Given the description of an element on the screen output the (x, y) to click on. 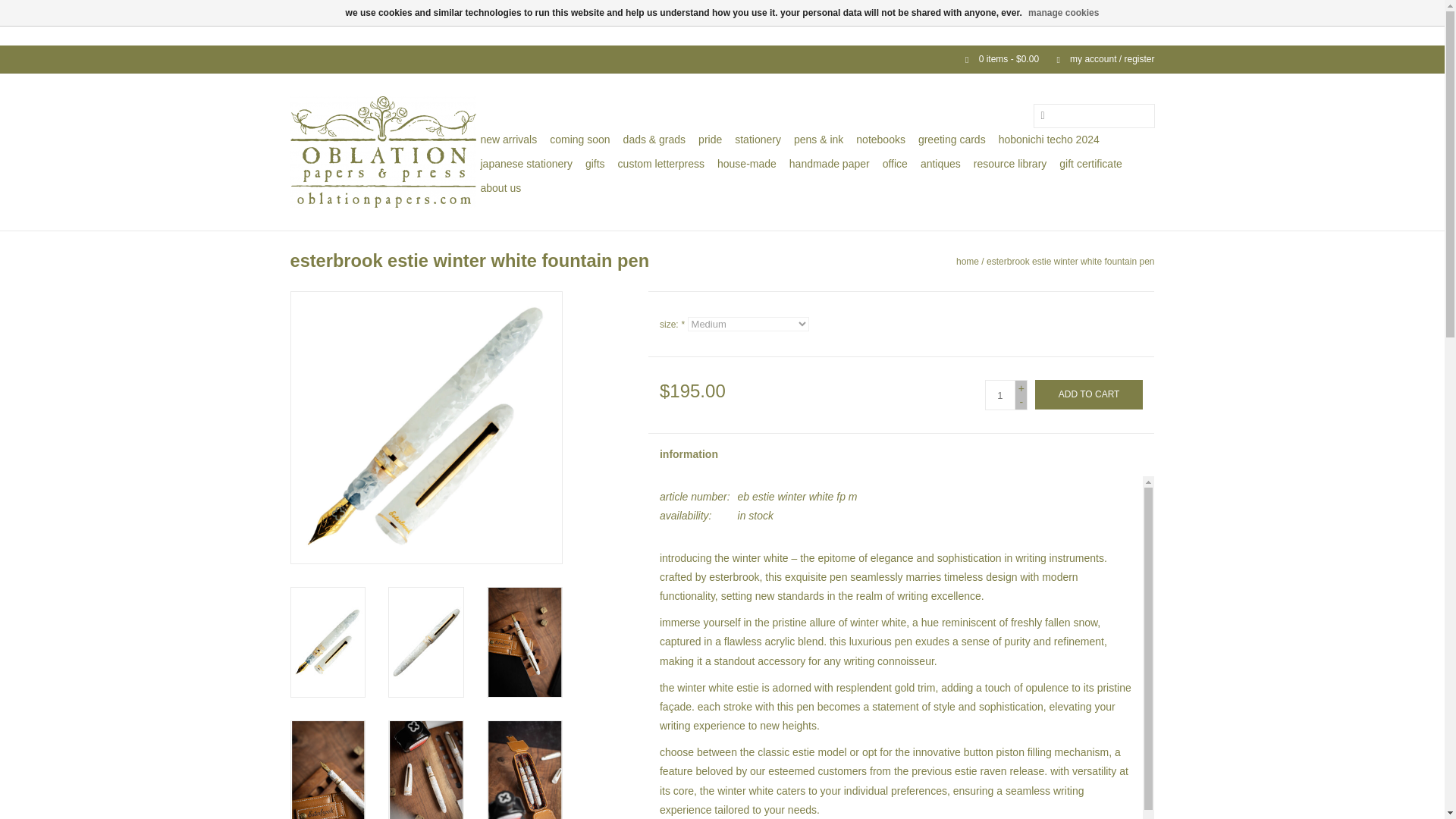
My account (1097, 59)
new arrivals (508, 139)
Pride (710, 139)
Stationery (758, 139)
pride (710, 139)
coming soon (579, 139)
stationery (758, 139)
Coming Soon (579, 139)
New Arrivals (508, 139)
